Given the description of an element on the screen output the (x, y) to click on. 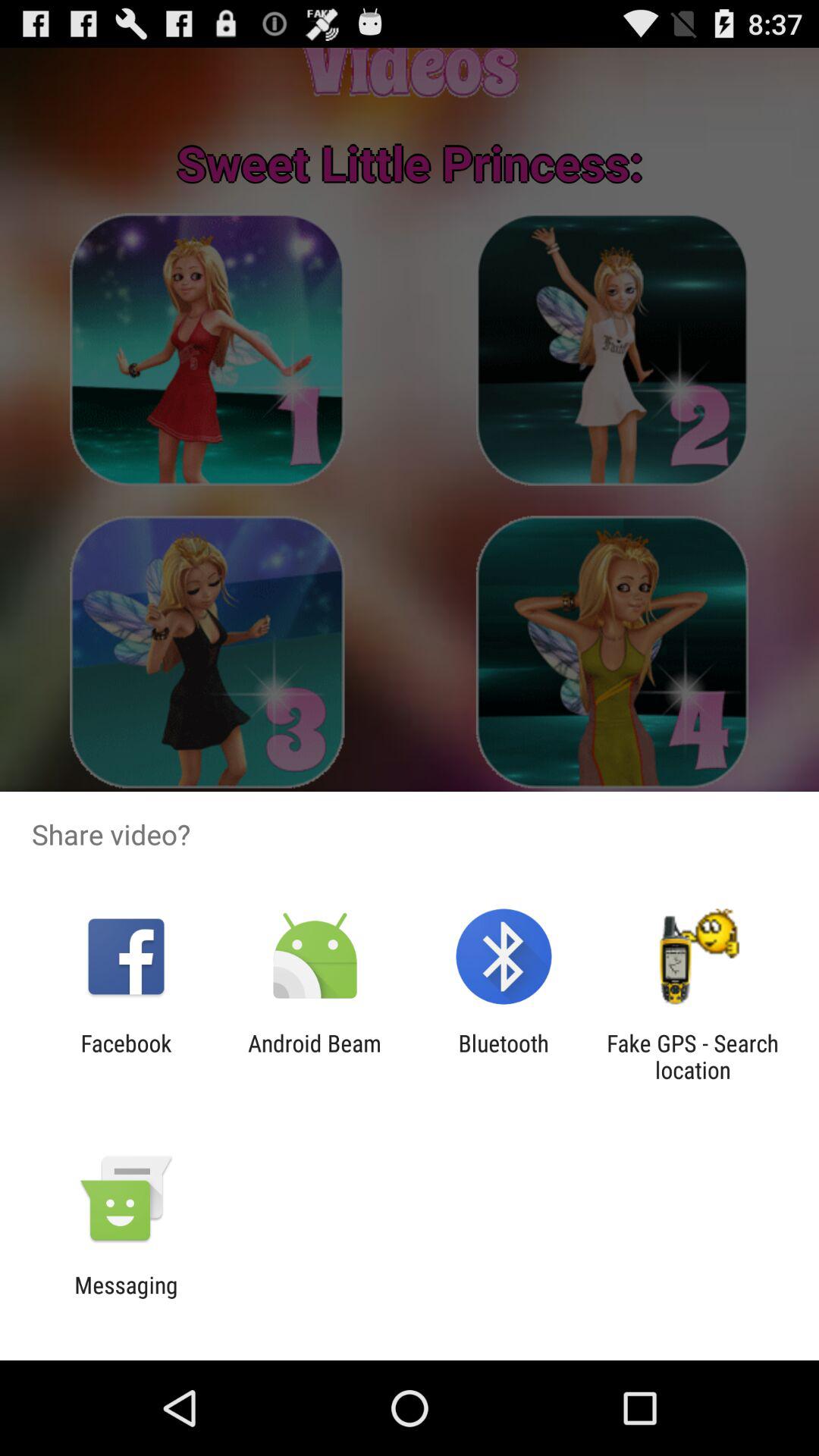
swipe to messaging (126, 1298)
